Given the description of an element on the screen output the (x, y) to click on. 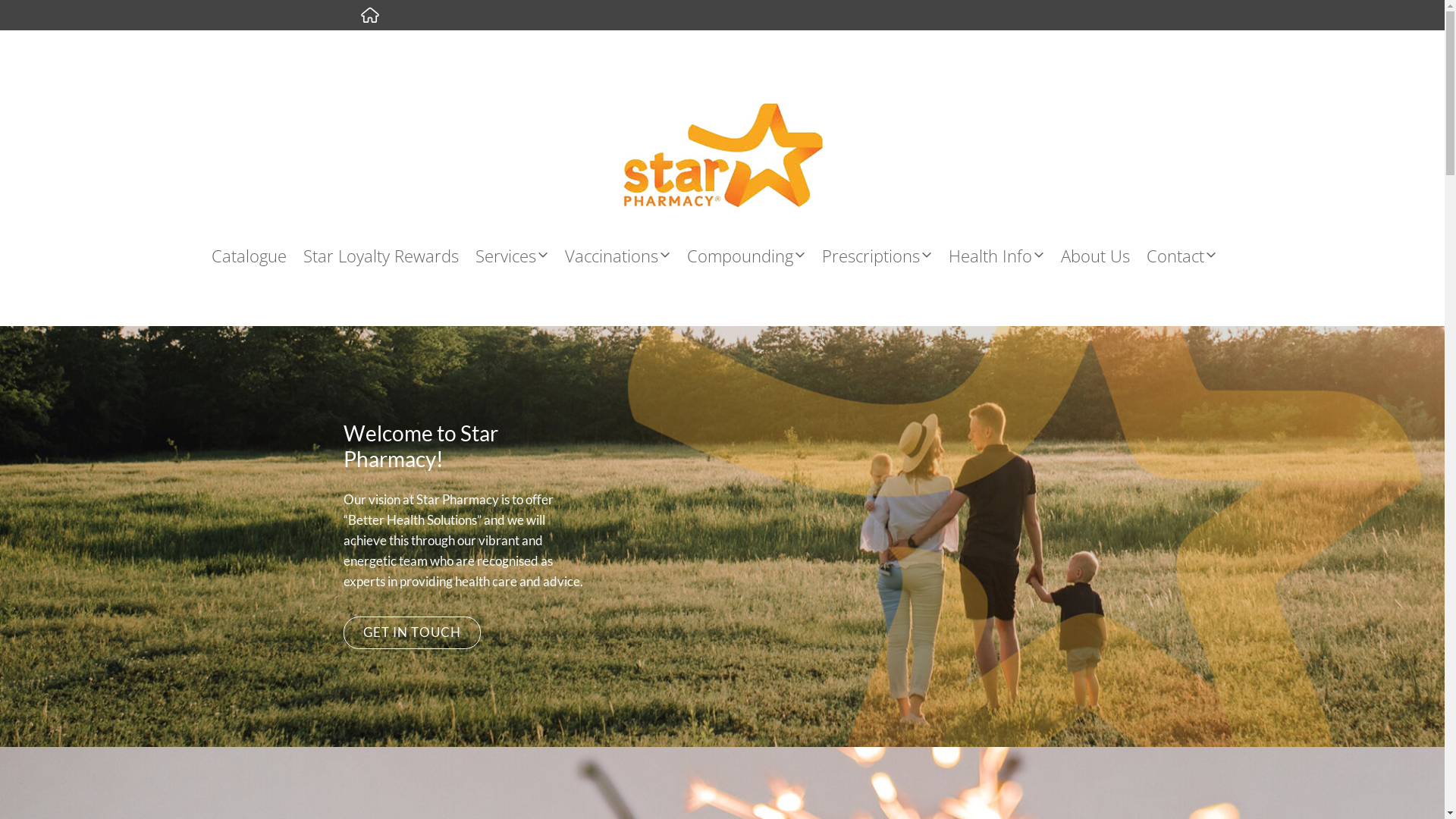
Home Element type: hover (368, 15)
Star Loyalty Rewards Element type: text (389, 255)
About Us Element type: text (1103, 255)
Catalogue Element type: text (257, 255)
Vaccinations Element type: text (625, 255)
Prescriptions Element type: text (885, 255)
  Element type: text (368, 15)
Compounding Element type: text (754, 255)
GET IN TOUCH Element type: text (411, 632)
Services Element type: text (519, 255)
Health Info Element type: text (1004, 255)
Contact Element type: text (1189, 255)
